Given the description of an element on the screen output the (x, y) to click on. 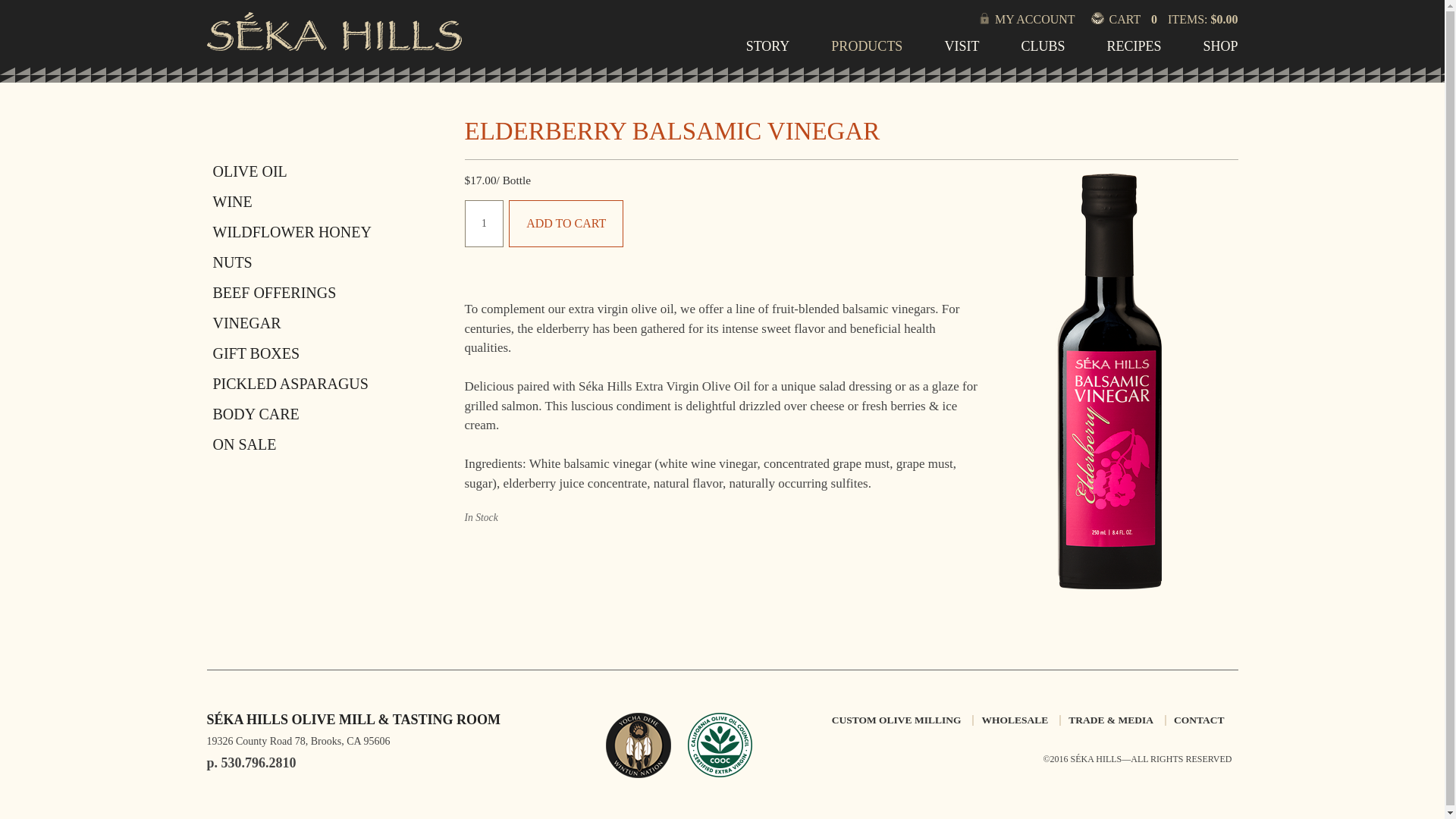
RECIPES (1133, 51)
STORY (767, 51)
SHOP (1219, 51)
VISIT (960, 51)
MY ACCOUNT (1051, 19)
CLUBS (1042, 51)
PRODUCTS (866, 51)
